Given the description of an element on the screen output the (x, y) to click on. 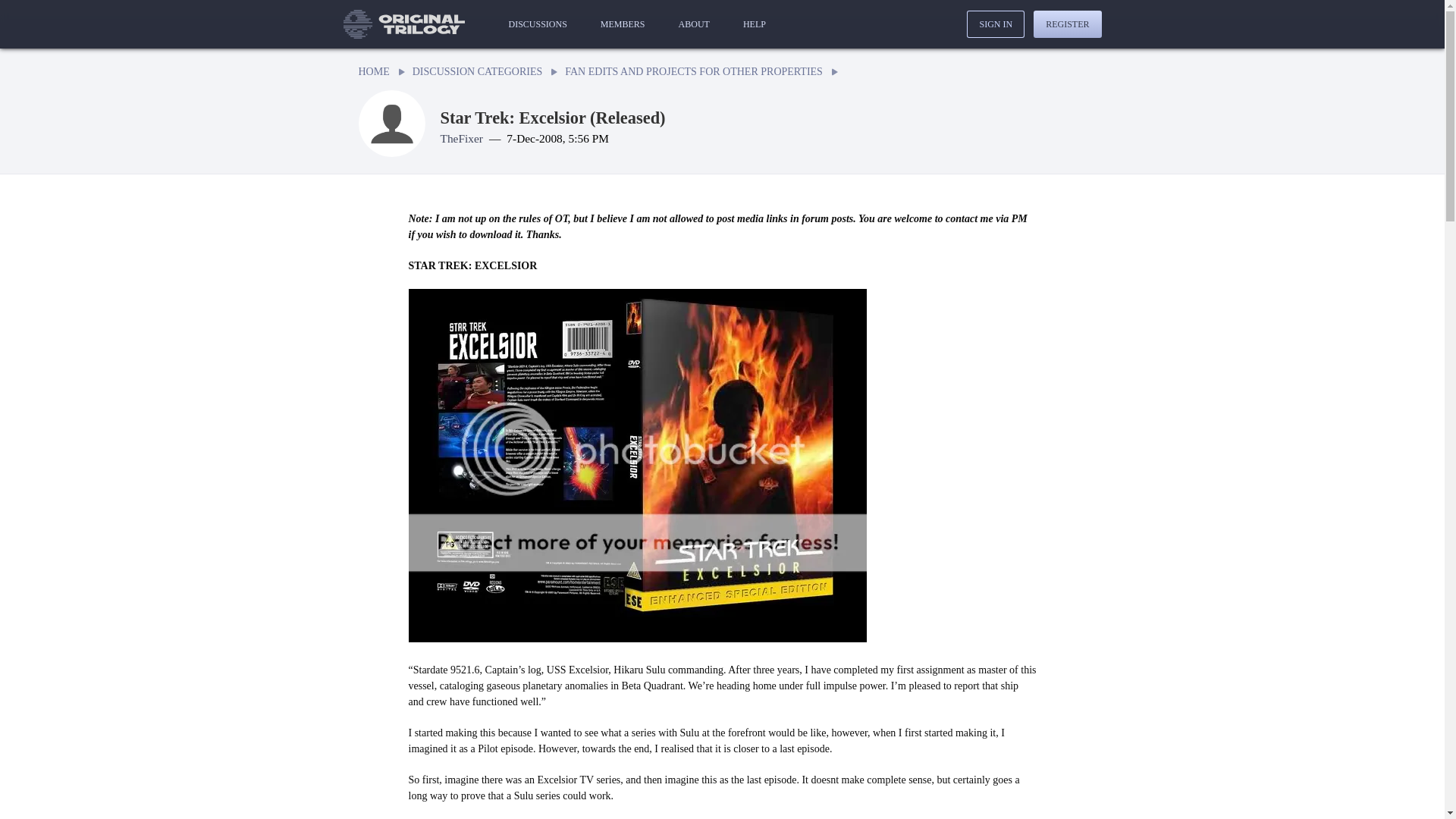
REGISTER (1066, 23)
SIGN IN (995, 23)
DISCUSSIONS (536, 24)
MEMBERS (622, 24)
ABOUT (694, 24)
HOME (373, 71)
Go to our home page. (403, 23)
FAN EDITS AND PROJECTS FOR OTHER PROPERTIES (693, 71)
DISCUSSION CATEGORIES (477, 71)
TheFixer (460, 137)
